Given the description of an element on the screen output the (x, y) to click on. 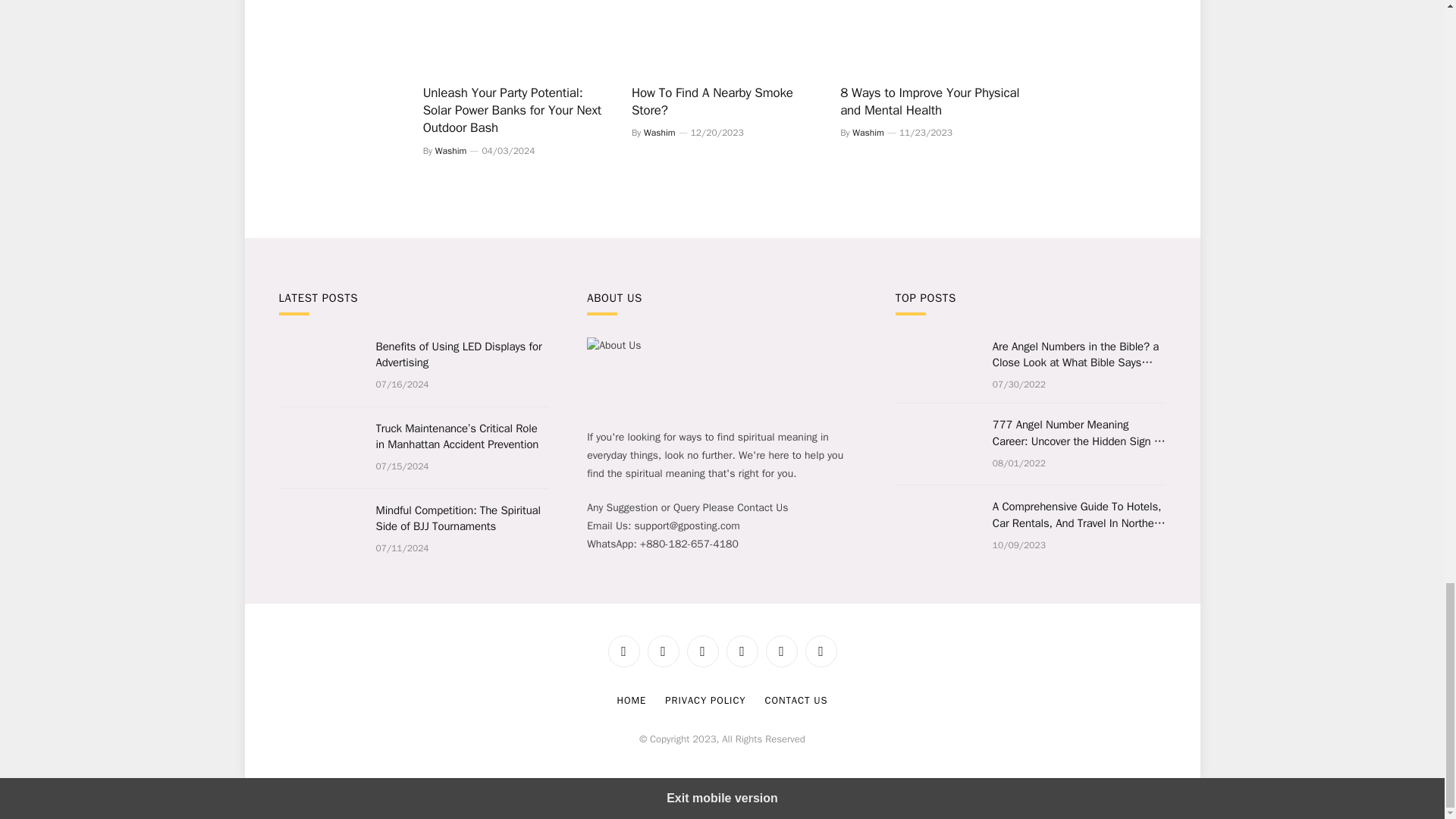
Posts by Washim (451, 150)
